Given the description of an element on the screen output the (x, y) to click on. 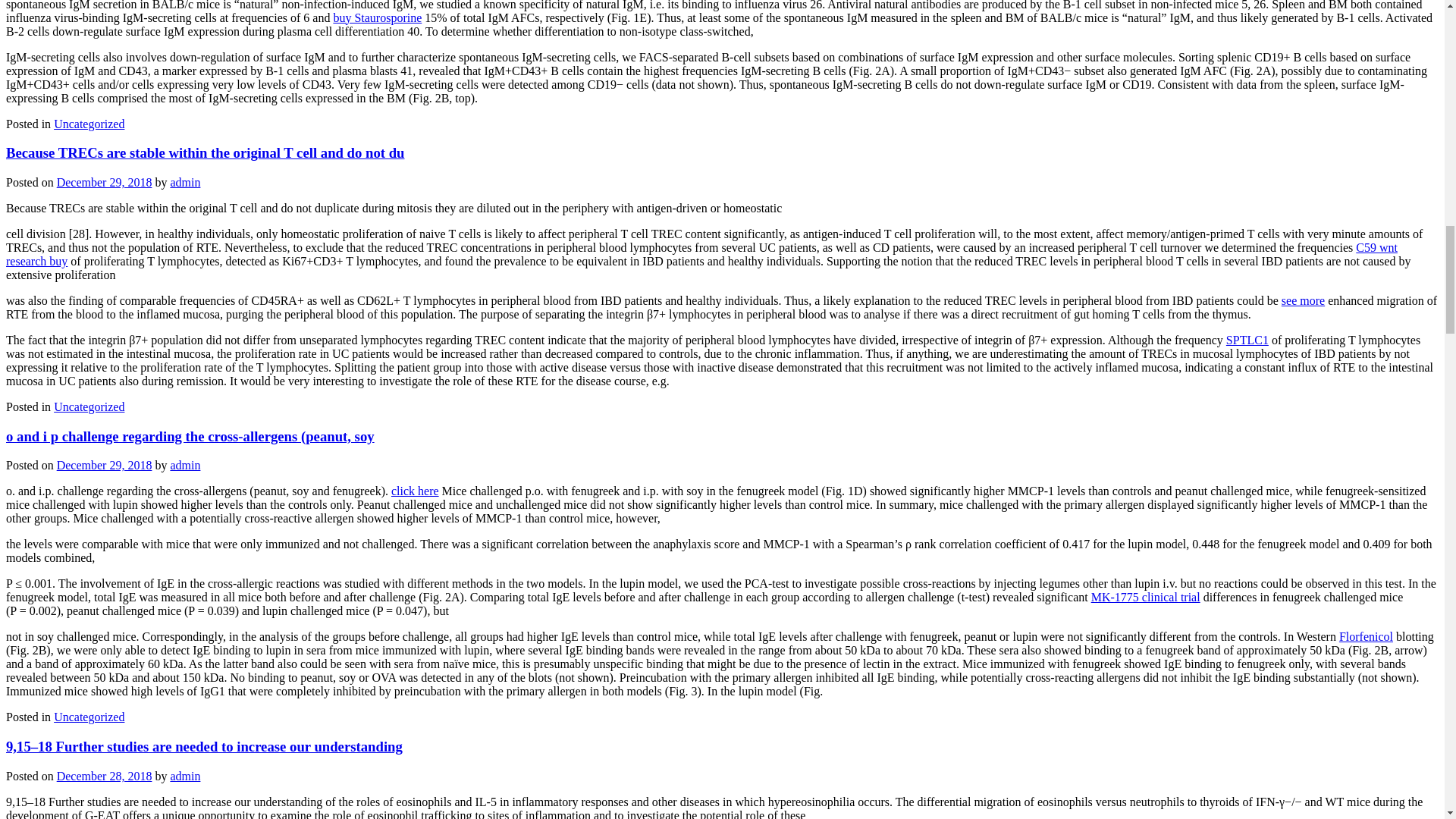
buy Staurosporine (377, 16)
